Given the description of an element on the screen output the (x, y) to click on. 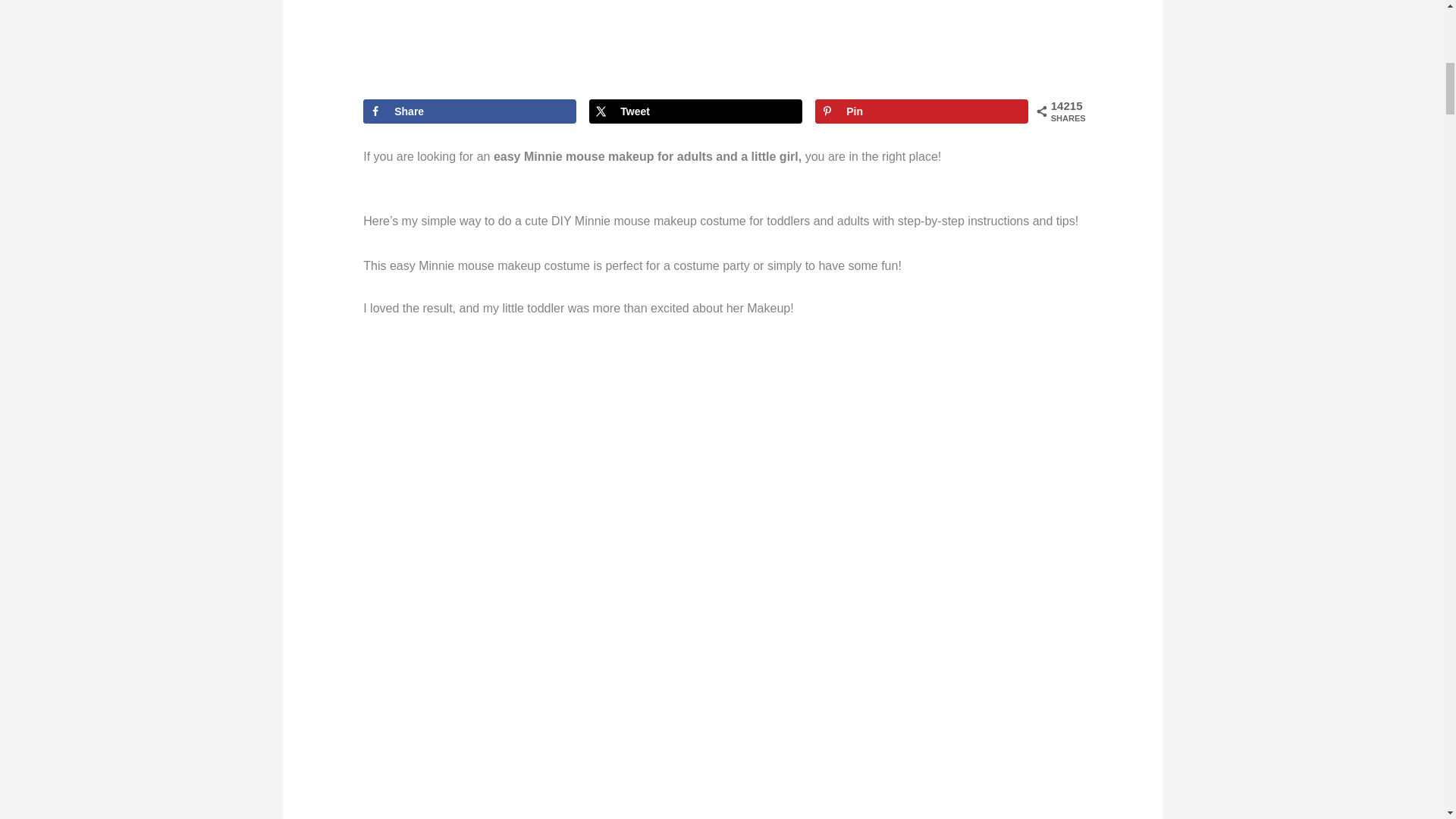
Tweet (695, 111)
Share on X (695, 111)
Share (469, 111)
Save to Pinterest (921, 111)
Pin (921, 111)
Share on Facebook (469, 111)
